Given the description of an element on the screen output the (x, y) to click on. 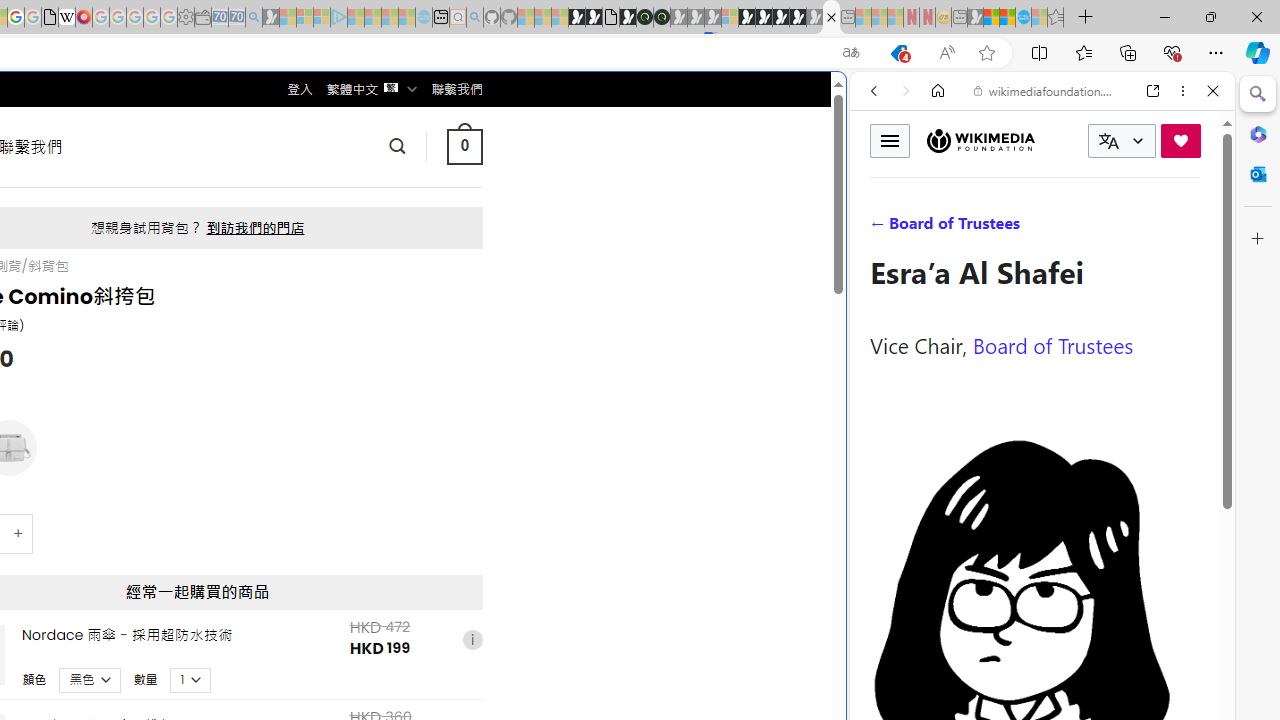
wikimediafoundation.org (1045, 90)
Services - Maintenance | Sky Blue Bikes - Sky Blue Bikes (1023, 17)
